Given the description of an element on the screen output the (x, y) to click on. 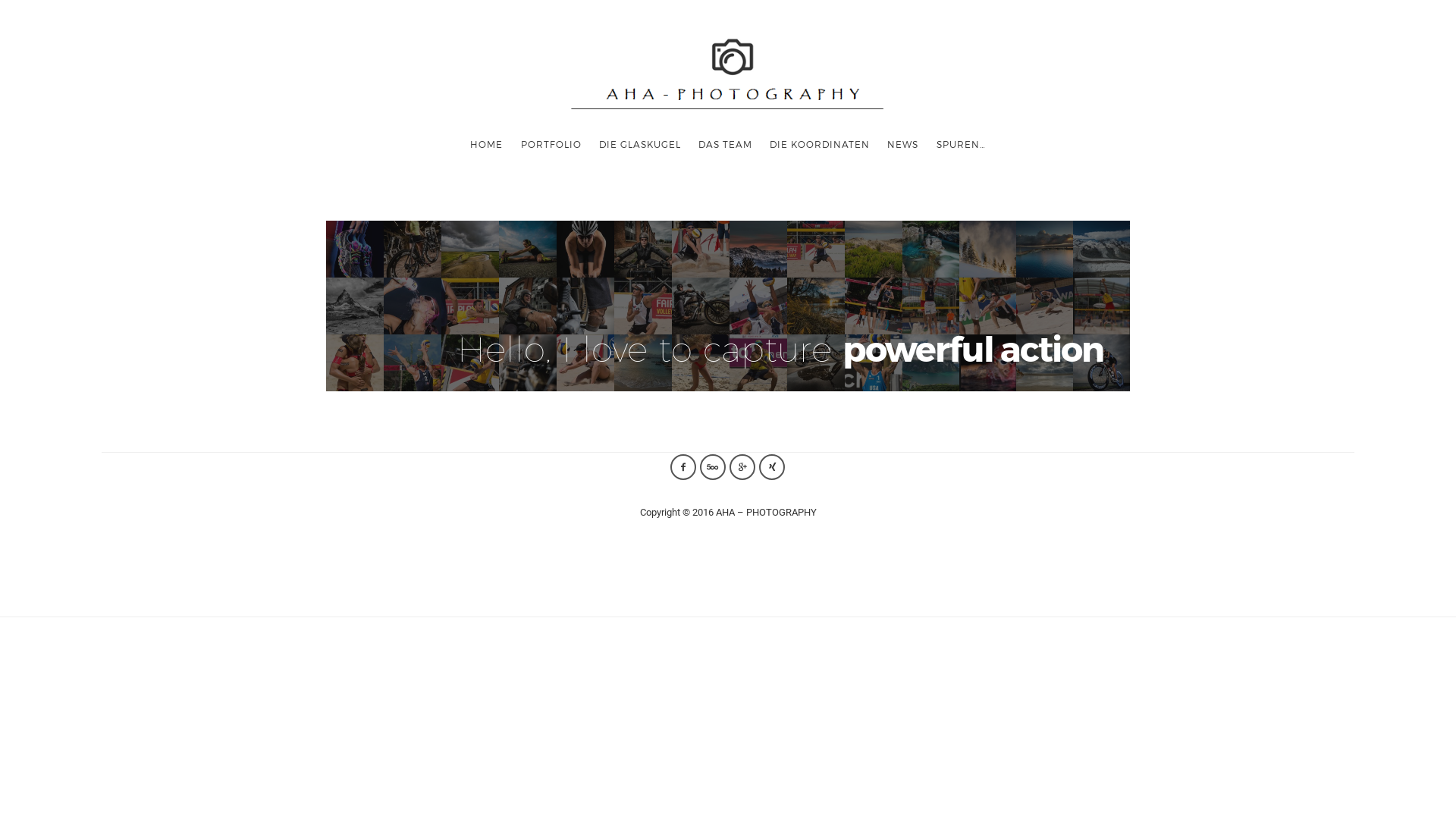
PORTFOLIO Element type: text (550, 144)
DIE KOORDINATEN Element type: text (819, 144)
NEWS Element type: text (902, 144)
DAS TEAM Element type: text (724, 144)
HOME Element type: text (486, 144)
DIE GLASKUGEL Element type: text (639, 144)
